Given the description of an element on the screen output the (x, y) to click on. 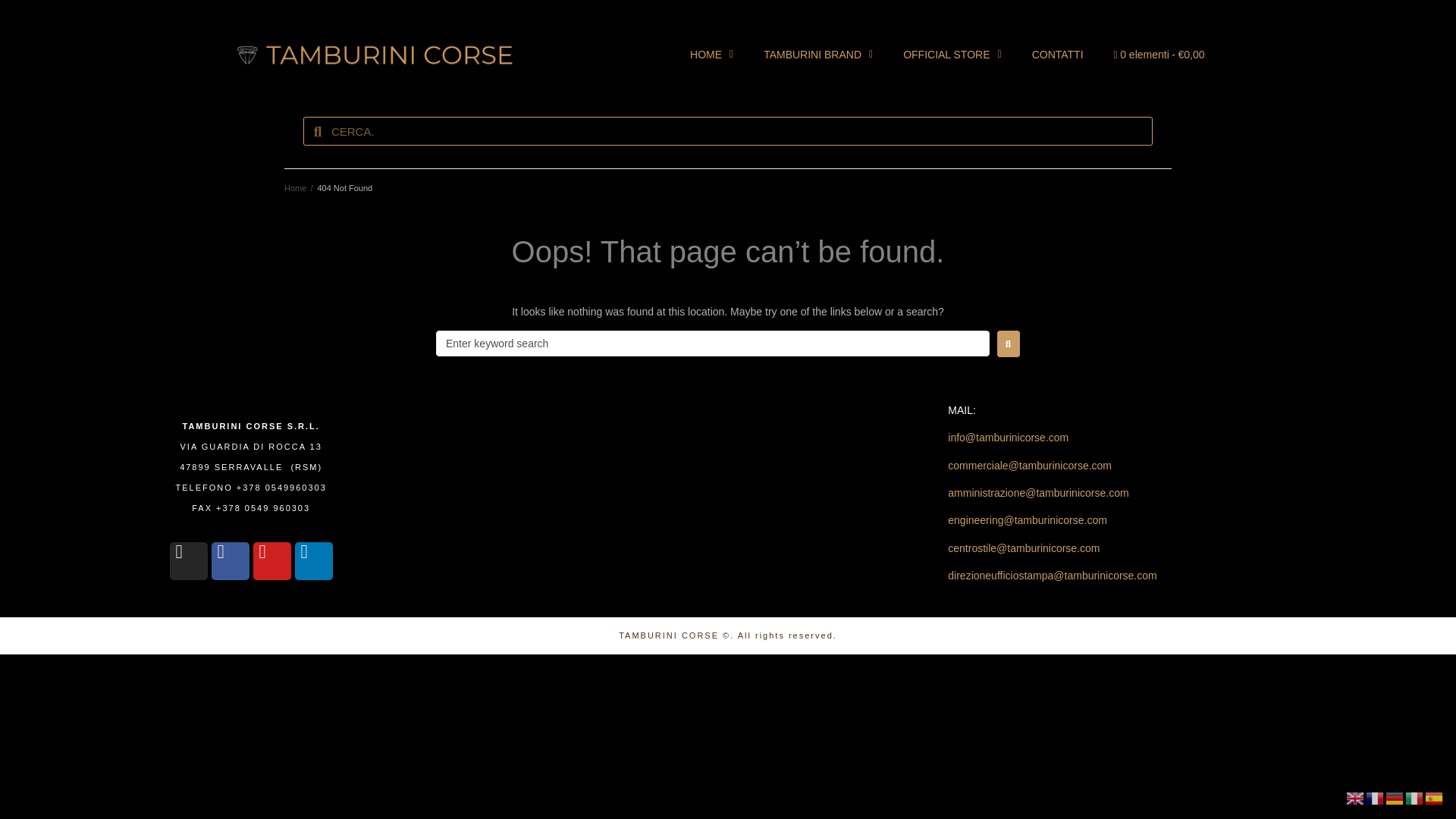
OFFICIAL STORE (952, 54)
Vai al negozio (1159, 54)
VIA GUARDIA DI ROCCA 13 47899 SERRAVALLE (652, 498)
HOME (711, 54)
CONTATTI (1057, 54)
TAMBURINI BRAND (818, 54)
Home (294, 187)
